Given the description of an element on the screen output the (x, y) to click on. 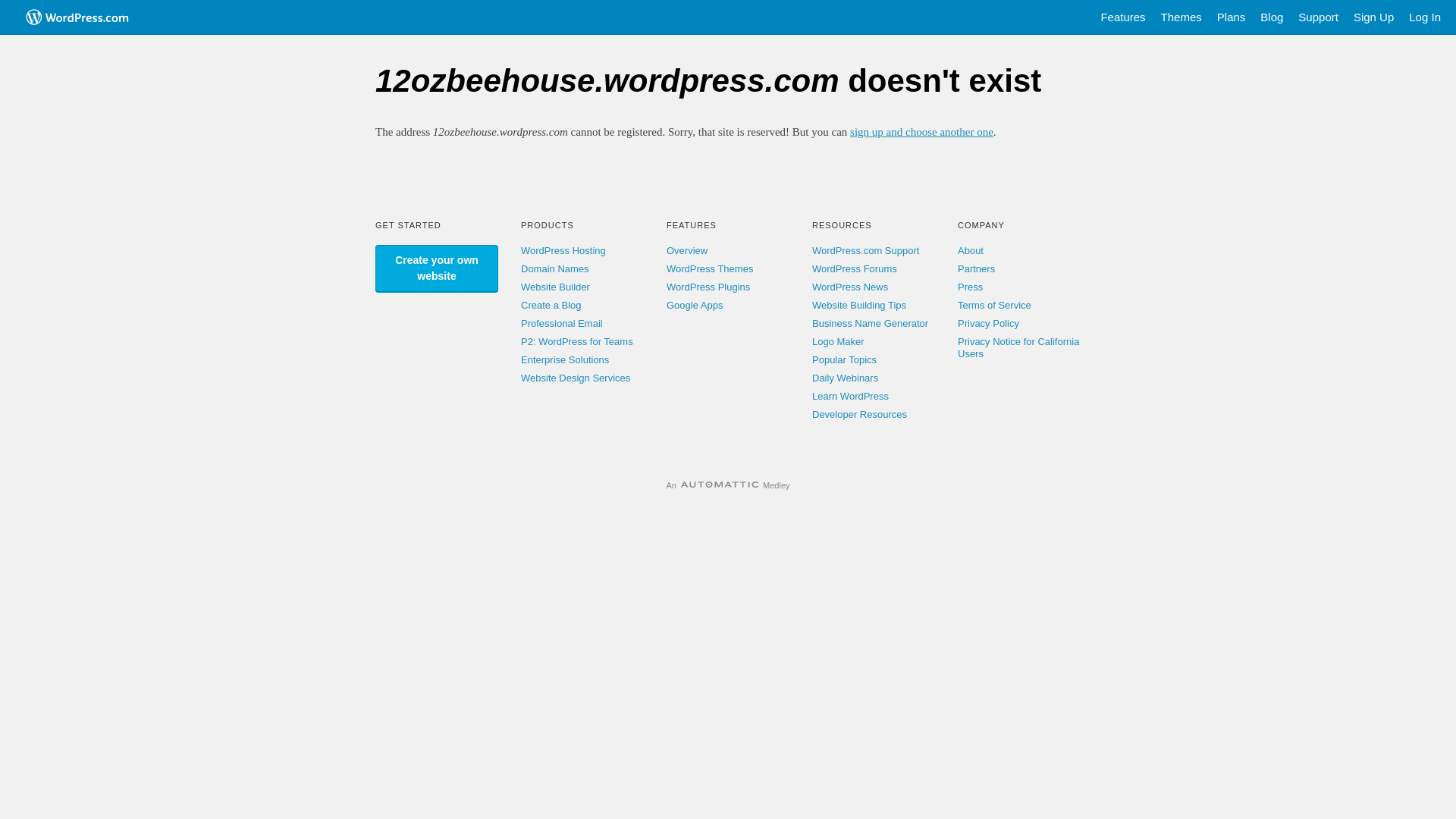
WordPress Themes Element type: text (709, 268)
Create a Blog Element type: text (550, 304)
WordPress.com Support Element type: text (865, 250)
Developer Resources Element type: text (859, 414)
About Element type: text (970, 250)
Domain Names Element type: text (554, 268)
Support Element type: text (1318, 17)
Themes Element type: text (1181, 17)
Logo Maker Element type: text (838, 341)
Website Builder Element type: text (554, 286)
Daily Webinars Element type: text (845, 377)
sign up and choose another one Element type: text (921, 131)
Partners Element type: text (975, 268)
Blog Element type: text (1271, 17)
Professional Email Element type: text (561, 323)
WordPress Hosting Element type: text (562, 250)
WordPress News Element type: text (850, 286)
Enterprise Solutions Element type: text (564, 359)
WordPress Forums Element type: text (854, 268)
Privacy Policy Element type: text (988, 323)
Google Apps Element type: text (694, 304)
Automattic Element type: text (719, 485)
Plans Element type: text (1231, 17)
Popular Topics Element type: text (844, 359)
P2: WordPress for Teams Element type: text (576, 341)
Terms of Service Element type: text (994, 304)
Sign Up Element type: text (1373, 17)
WordPress Plugins Element type: text (707, 286)
Log In Element type: text (1424, 17)
Overview Element type: text (686, 250)
Features Element type: text (1122, 17)
Website Building Tips Element type: text (859, 304)
Business Name Generator Element type: text (870, 323)
Website Design Services Element type: text (575, 377)
Create your own website Element type: text (436, 268)
Privacy Notice for California Users Element type: text (1018, 347)
Learn WordPress Element type: text (850, 395)
Press Element type: text (969, 286)
